Given the description of an element on the screen output the (x, y) to click on. 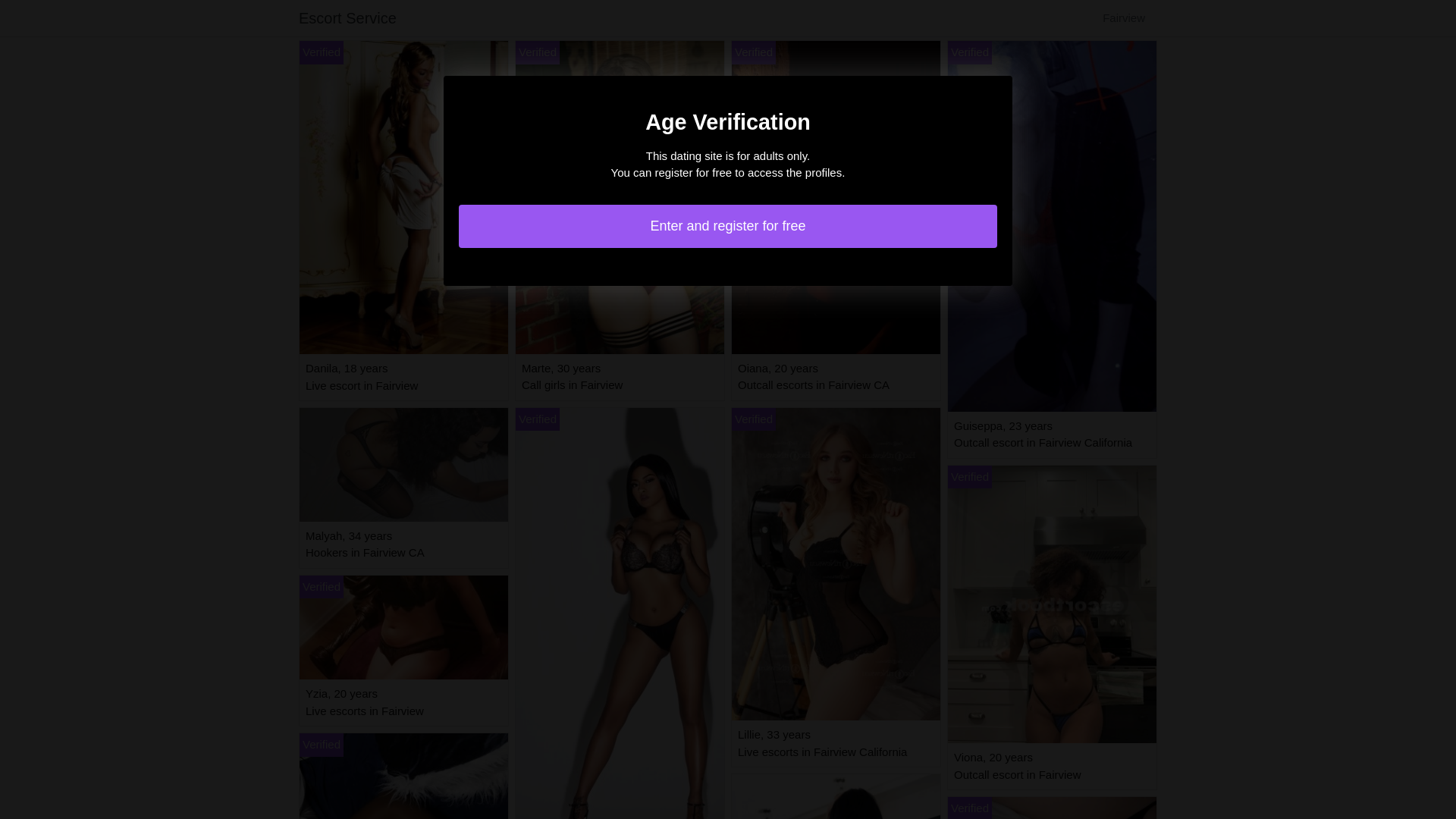
Enter and register for free Element type: text (727, 225)
Escort Service Element type: text (347, 18)
